Given the description of an element on the screen output the (x, y) to click on. 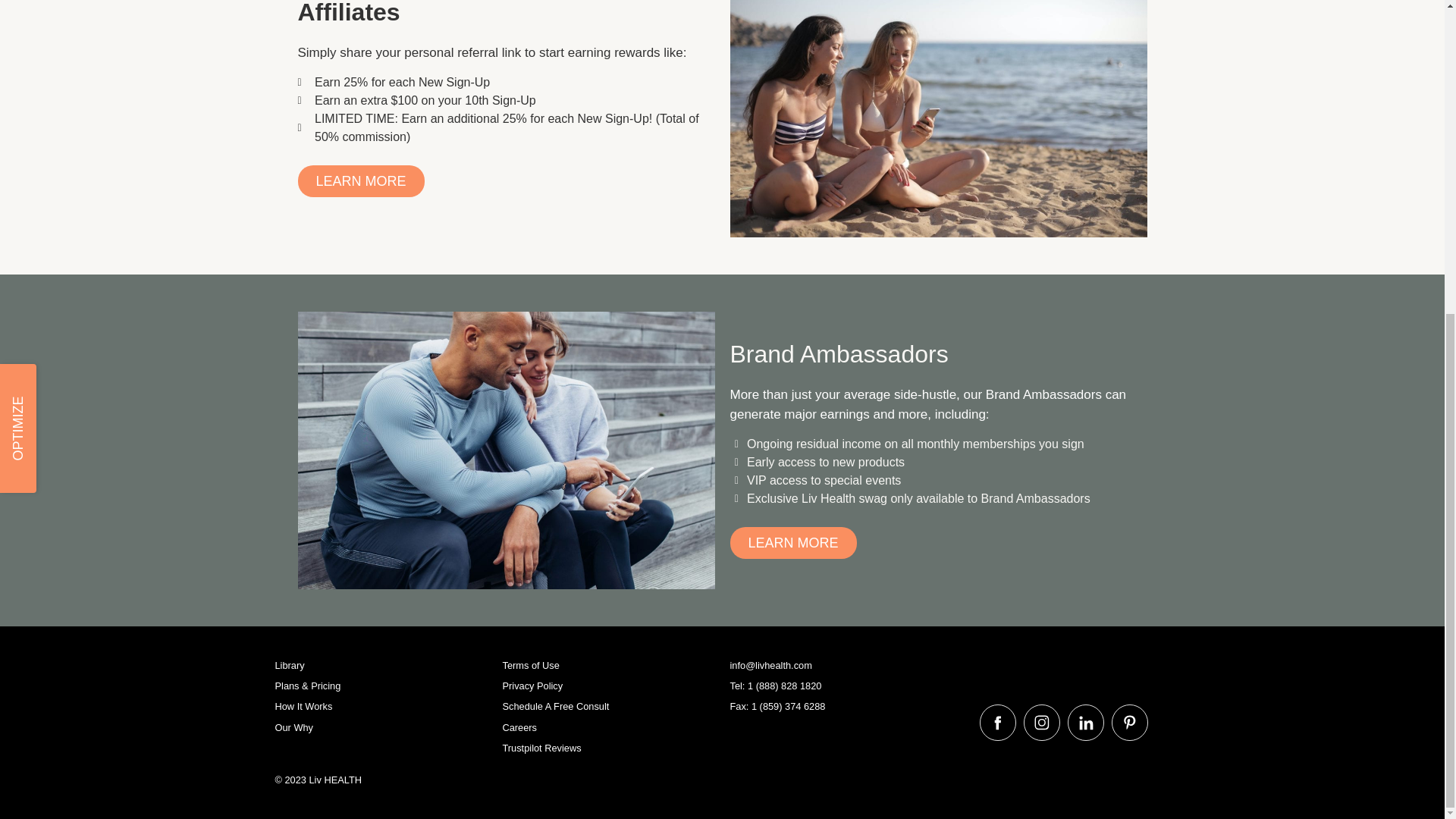
Terms of Use (608, 665)
LEARN MORE (360, 181)
Privacy Policy (608, 685)
How It Works (380, 706)
Library (380, 665)
Schedule A Free Consult (608, 706)
LEARN MORE (792, 542)
Careers (608, 727)
Trustpilot Reviews (608, 748)
Our Why (380, 727)
